Given the description of an element on the screen output the (x, y) to click on. 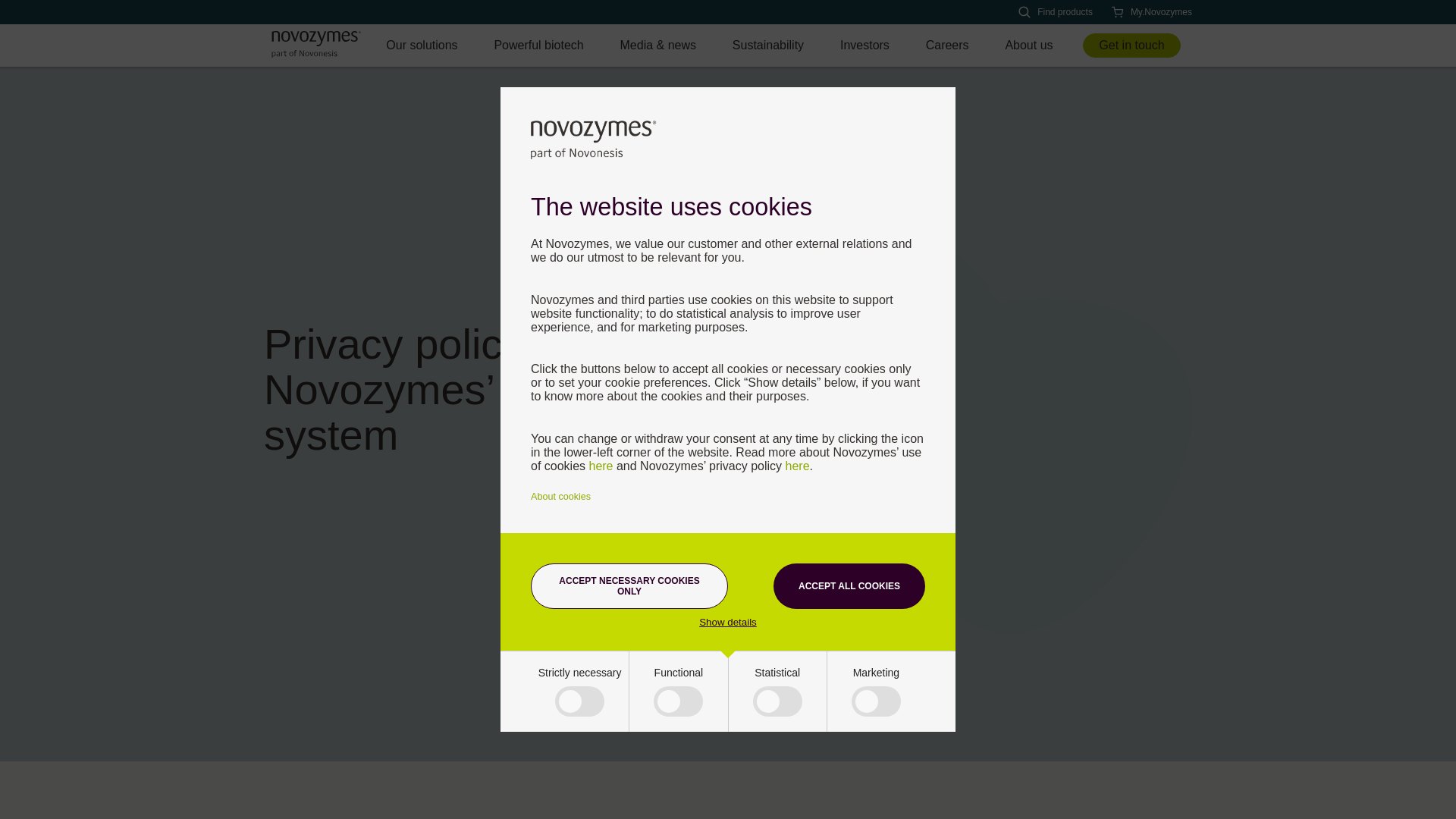
ACCEPT NECESSARY COOKIES ONLY (629, 586)
ACCEPT ALL COOKIES (848, 586)
here (797, 465)
here (600, 465)
Show details (727, 622)
About cookies (561, 496)
